Given the description of an element on the screen output the (x, y) to click on. 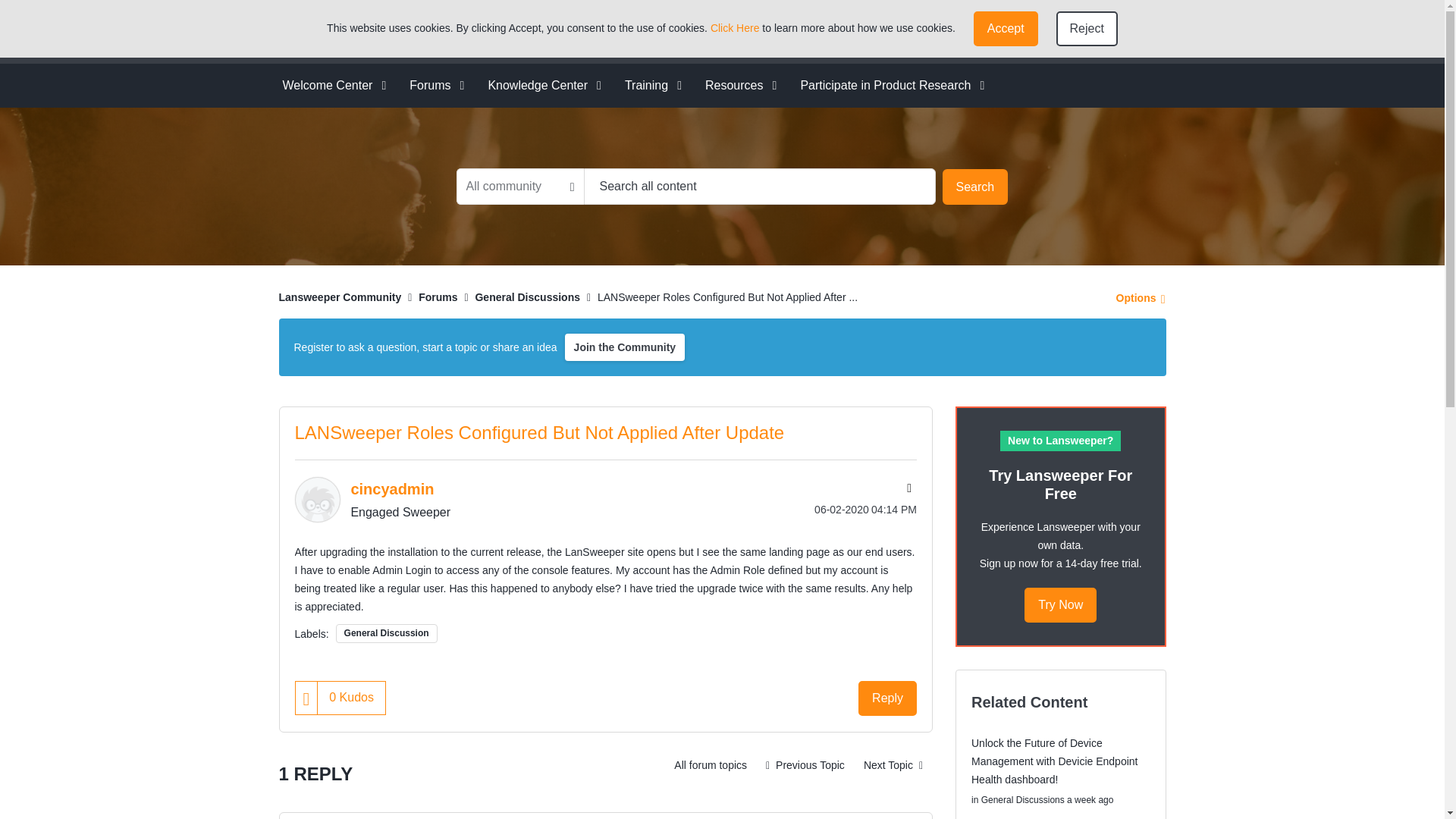
Developer Portal (895, 31)
Search (759, 186)
Accept (1006, 28)
Lansweeper Community (382, 31)
Forums (431, 85)
Welcome Center (328, 85)
The total number of kudos this post has received. (351, 696)
Click Here (735, 28)
General Discussions (710, 765)
Reject (1087, 28)
Lansweeper.com (795, 31)
Show option menu (1136, 296)
Apple Mac Mini has Asset Type of Windows (804, 765)
cincyadmin (316, 499)
Community FAQ (997, 31)
